Given the description of an element on the screen output the (x, y) to click on. 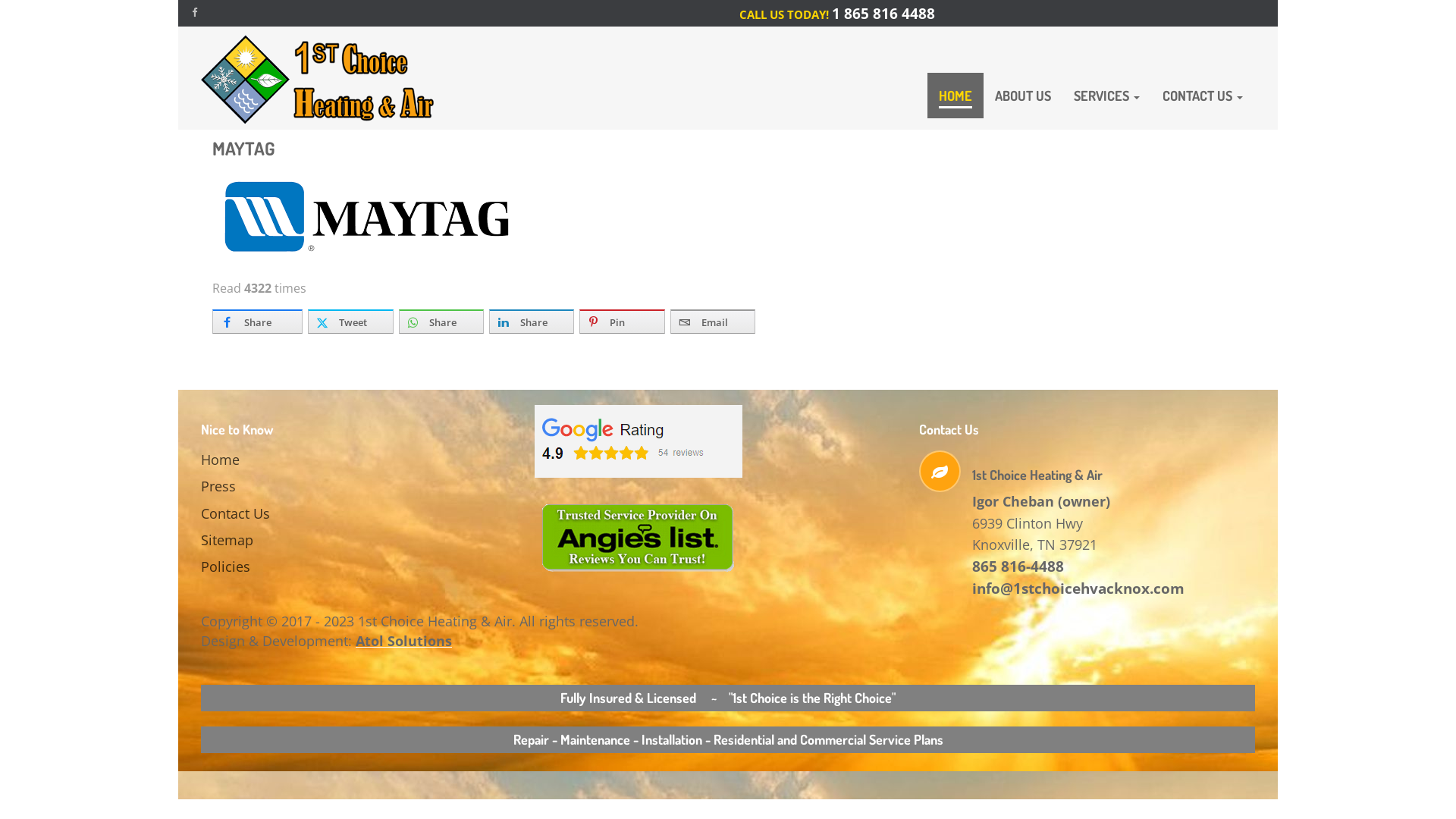
Pin Element type: text (621, 321)
Sitemap Element type: text (278, 540)
Policies Element type: text (278, 566)
HOME Element type: text (955, 95)
Share Element type: text (257, 321)
Press Element type: text (278, 486)
Tweet Element type: text (349, 321)
Contact Us Element type: text (278, 513)
Email Element type: text (712, 321)
1 865 816 4488 Element type: text (883, 12)
Atol Solutions Element type: text (403, 640)
CONTACT US Element type: text (1202, 95)
SERVICES Element type: text (1106, 95)
Share Element type: text (440, 321)
ABOUT US Element type: text (1022, 95)
1st Choice Heating and Air Element type: hover (323, 78)
Home Element type: text (278, 459)
Share Element type: text (531, 321)
865 816-4488 Element type: text (1017, 565)
info@1stchoicehvacknox.com Element type: text (1078, 587)
